Given the description of an element on the screen output the (x, y) to click on. 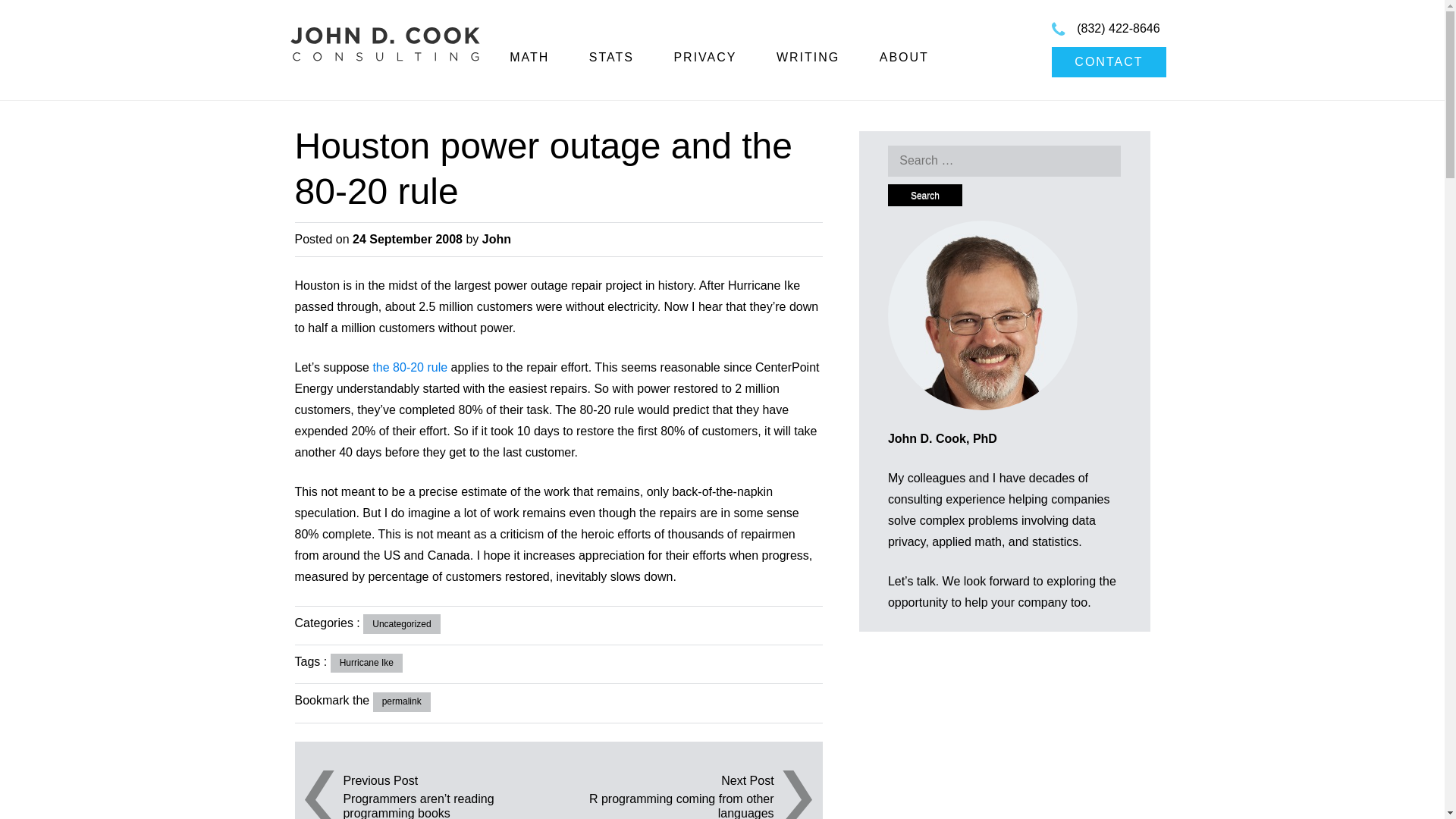
08:39 (407, 238)
Search for: (1004, 160)
Search (925, 195)
the 80-20 rule (409, 367)
STATS (611, 57)
Hurricane Ike (366, 663)
Permalink to Houston power outage and the 80-20 rule (401, 701)
Uncategorized (400, 623)
View all posts by John (496, 238)
Search (925, 195)
CONTACT (1108, 61)
WRITING (807, 57)
permalink (401, 701)
24 September 2008 (407, 238)
John (496, 238)
